Given the description of an element on the screen output the (x, y) to click on. 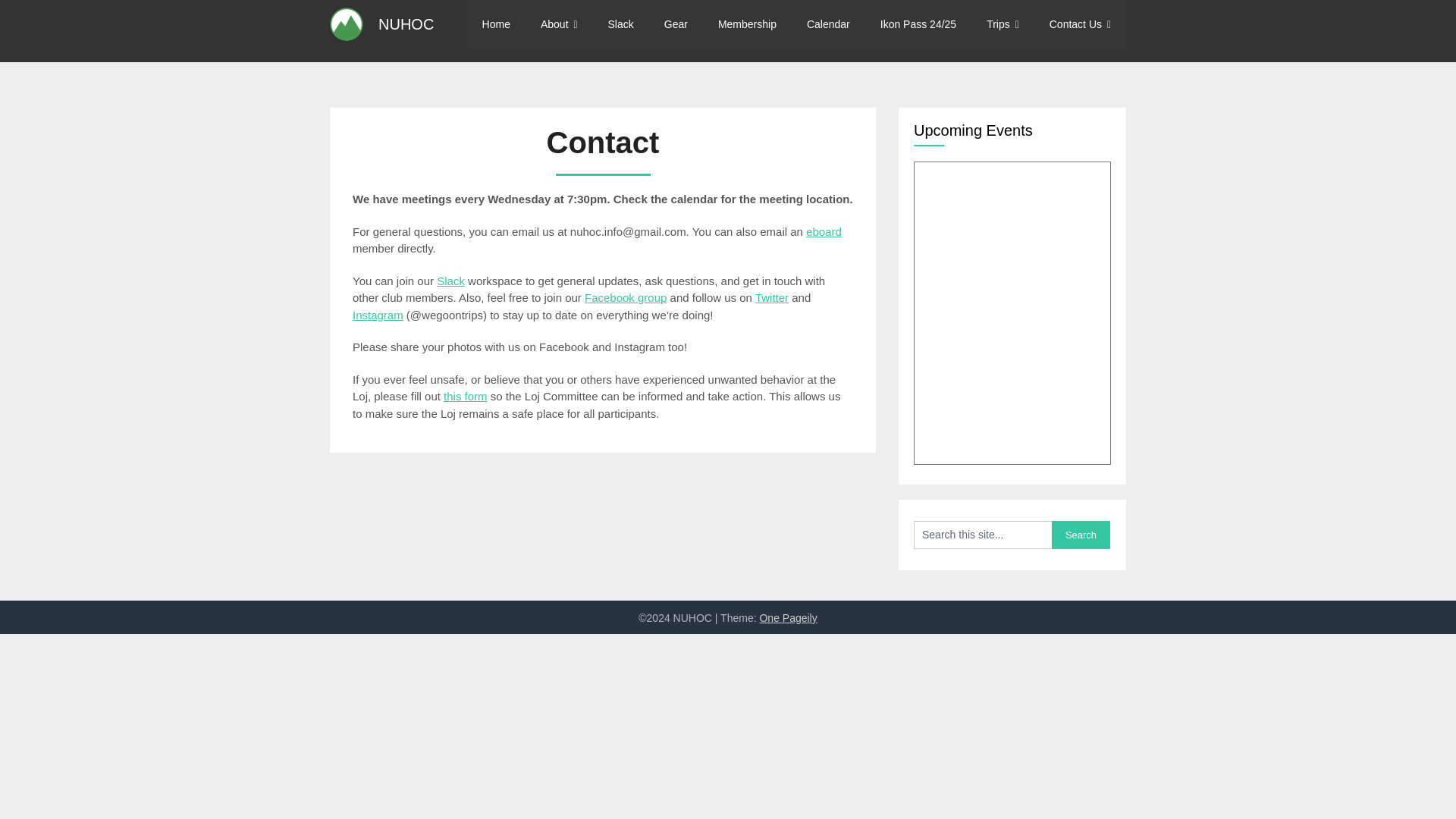
Membership (747, 24)
this form (465, 395)
Contact Us (1079, 24)
Calendar (828, 24)
One Pageily (787, 617)
Facebook group (625, 297)
Search (1080, 534)
Search this site... (982, 534)
Eboard (823, 230)
Home (496, 24)
Slack (620, 24)
Gear (676, 24)
About (558, 24)
Twitter (772, 297)
Instagram (377, 314)
